Given the description of an element on the screen output the (x, y) to click on. 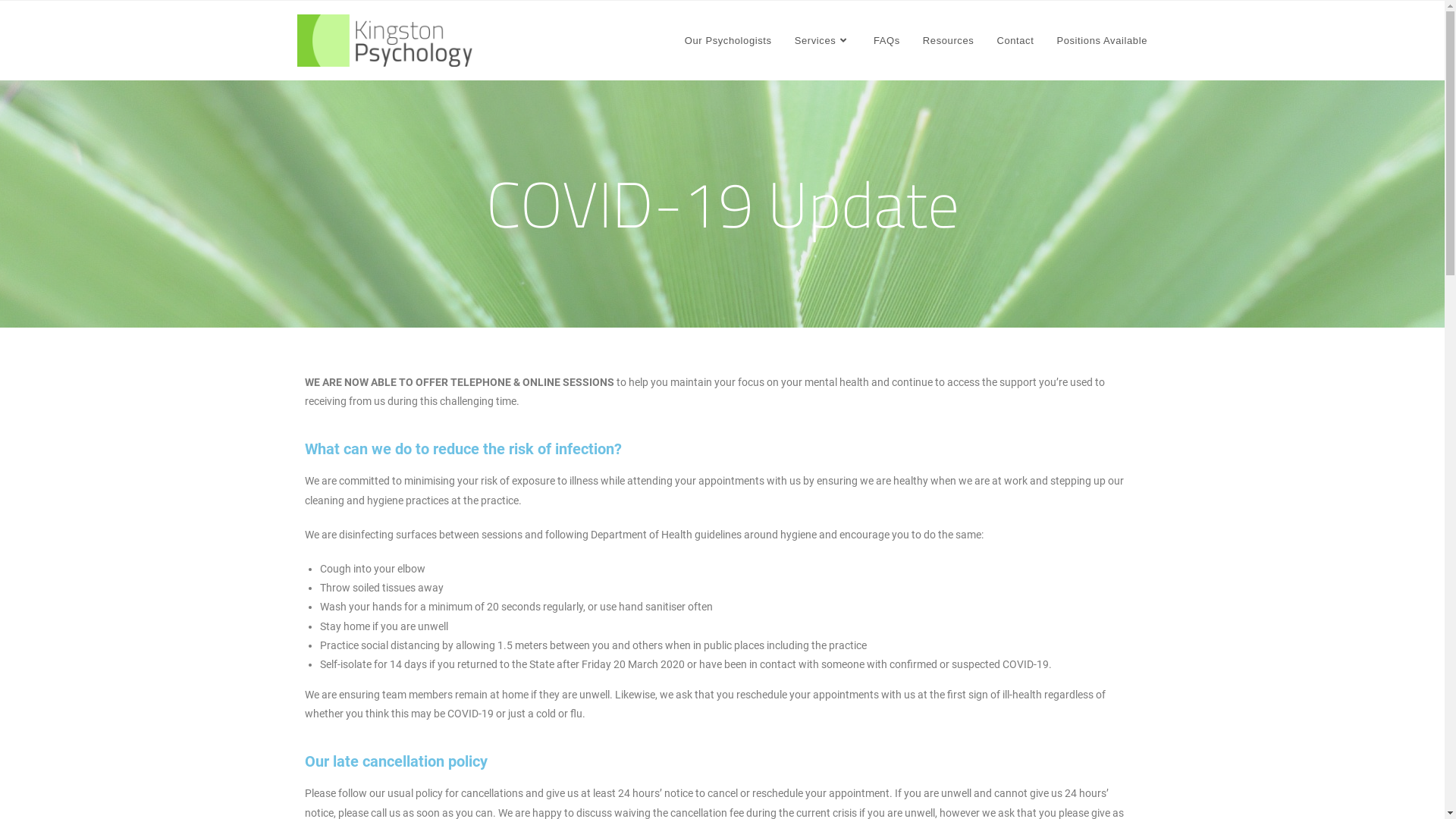
Our Psychologists Element type: text (728, 40)
Contact Element type: text (1014, 40)
FAQs Element type: text (886, 40)
Services Element type: text (822, 40)
Resources Element type: text (948, 40)
03 6229 2888 Element type: text (530, 649)
Positions Available Element type: text (1101, 40)
facebook.com/kingstonpsychology Element type: text (430, 786)
admin@kingstonpsychology.com.au Element type: text (434, 740)
6 Freeman St, Kingston TAS Element type: text (530, 604)
